Given the description of an element on the screen output the (x, y) to click on. 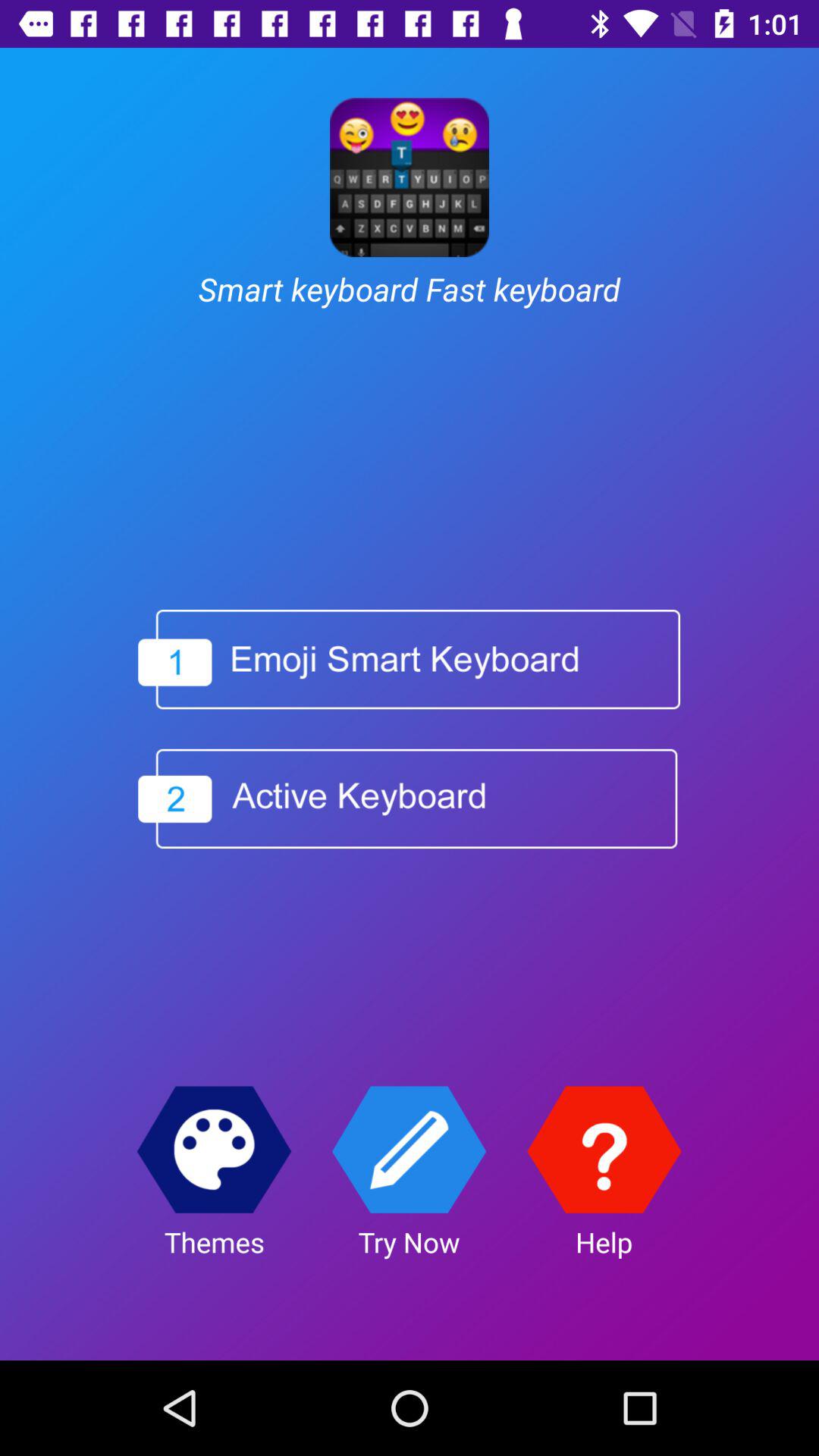
try now (408, 1149)
